Given the description of an element on the screen output the (x, y) to click on. 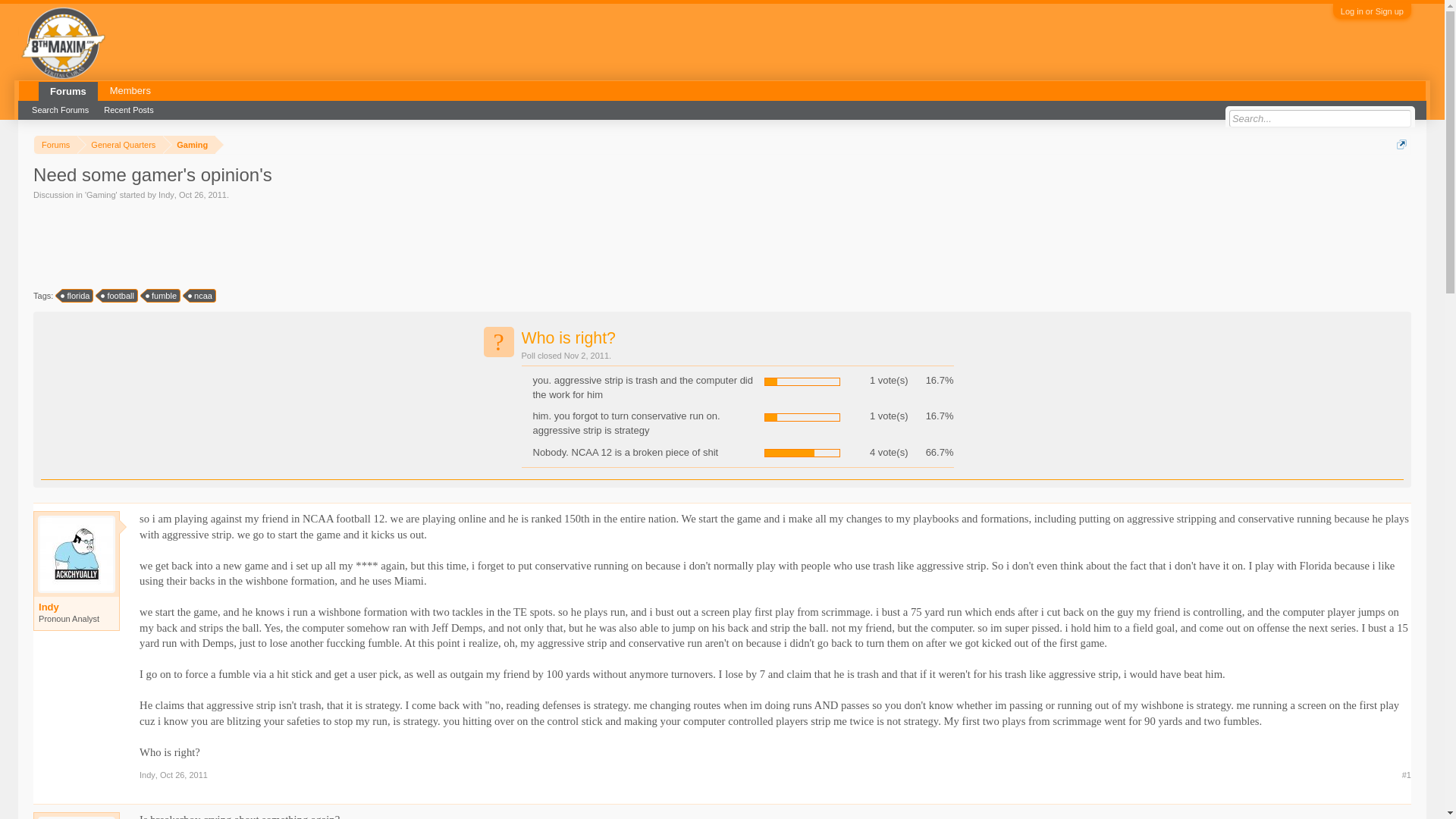
Indy (77, 607)
fumble (163, 295)
ncaa (202, 295)
Log in or Sign up (1371, 10)
florida (77, 295)
Oct 26, 2011 (184, 774)
General Quarters (120, 144)
Oct 26, 2011 (203, 194)
football (118, 295)
Indy (147, 774)
Advertisement (309, 243)
Open quick navigation (1401, 144)
Gaming (189, 144)
Indy (166, 194)
Gaming (100, 194)
